Given the description of an element on the screen output the (x, y) to click on. 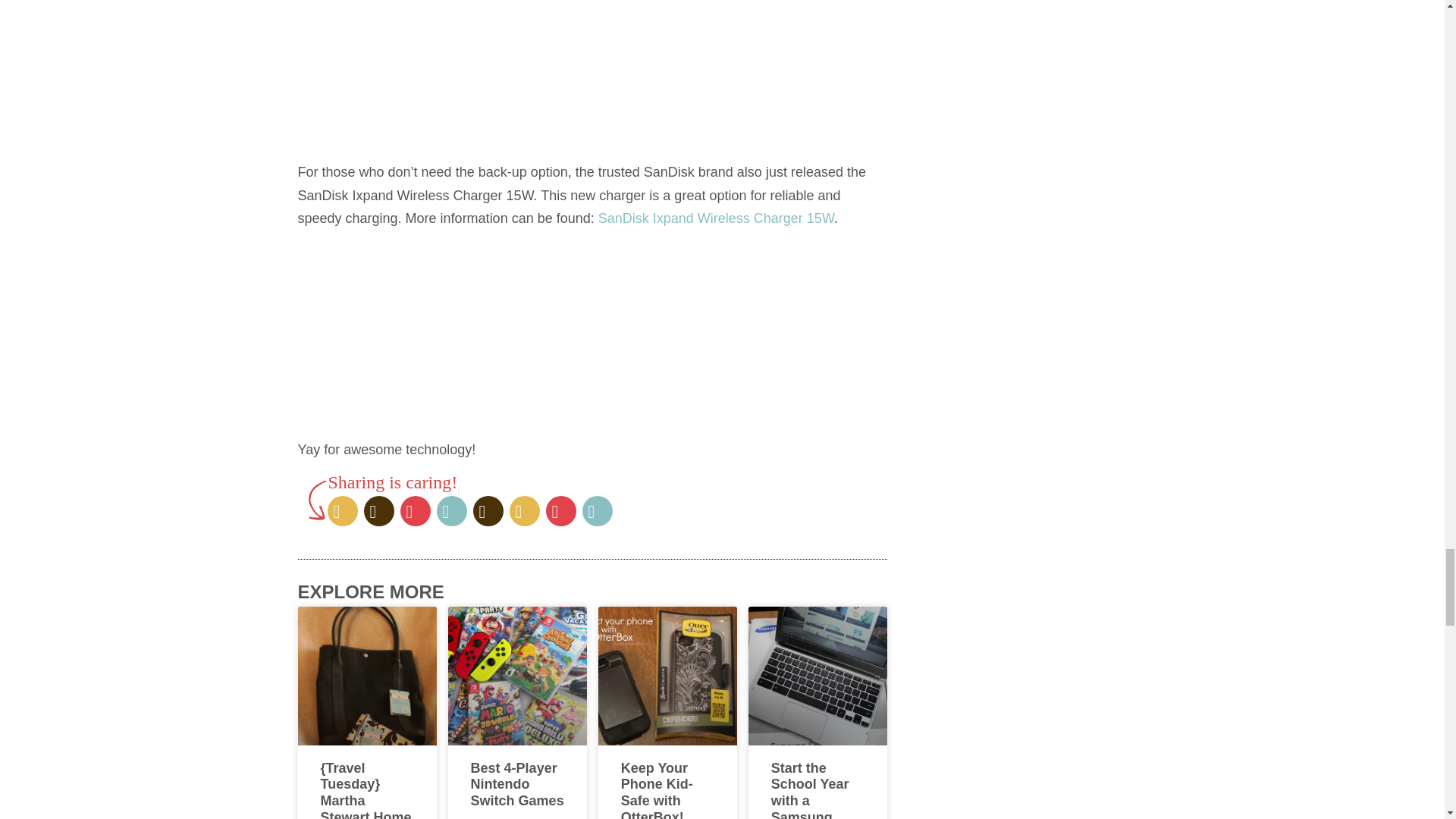
Pinterest (415, 511)
Yummly (488, 511)
Email This (451, 511)
Facebook (379, 511)
PrintFriendly (561, 511)
LinkedIn (524, 511)
More Options (597, 511)
